Given the description of an element on the screen output the (x, y) to click on. 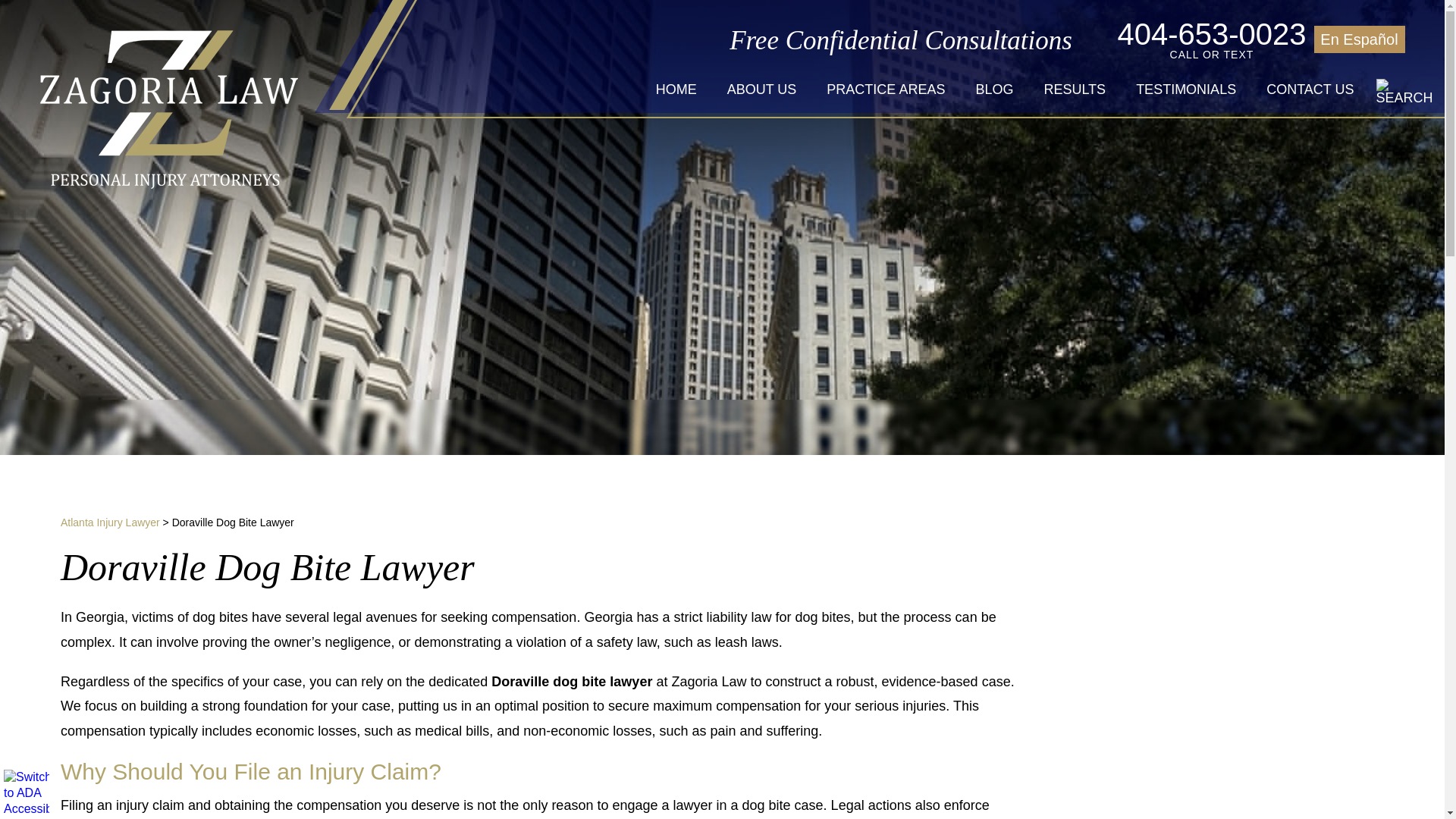
ABOUT US (761, 89)
RESULTS (1074, 89)
PRACTICE AREAS (884, 89)
TESTIMONIALS (1196, 38)
Switch to ADA Accessible Theme (1185, 89)
BLOG (26, 791)
HOME (993, 89)
